Given the description of an element on the screen output the (x, y) to click on. 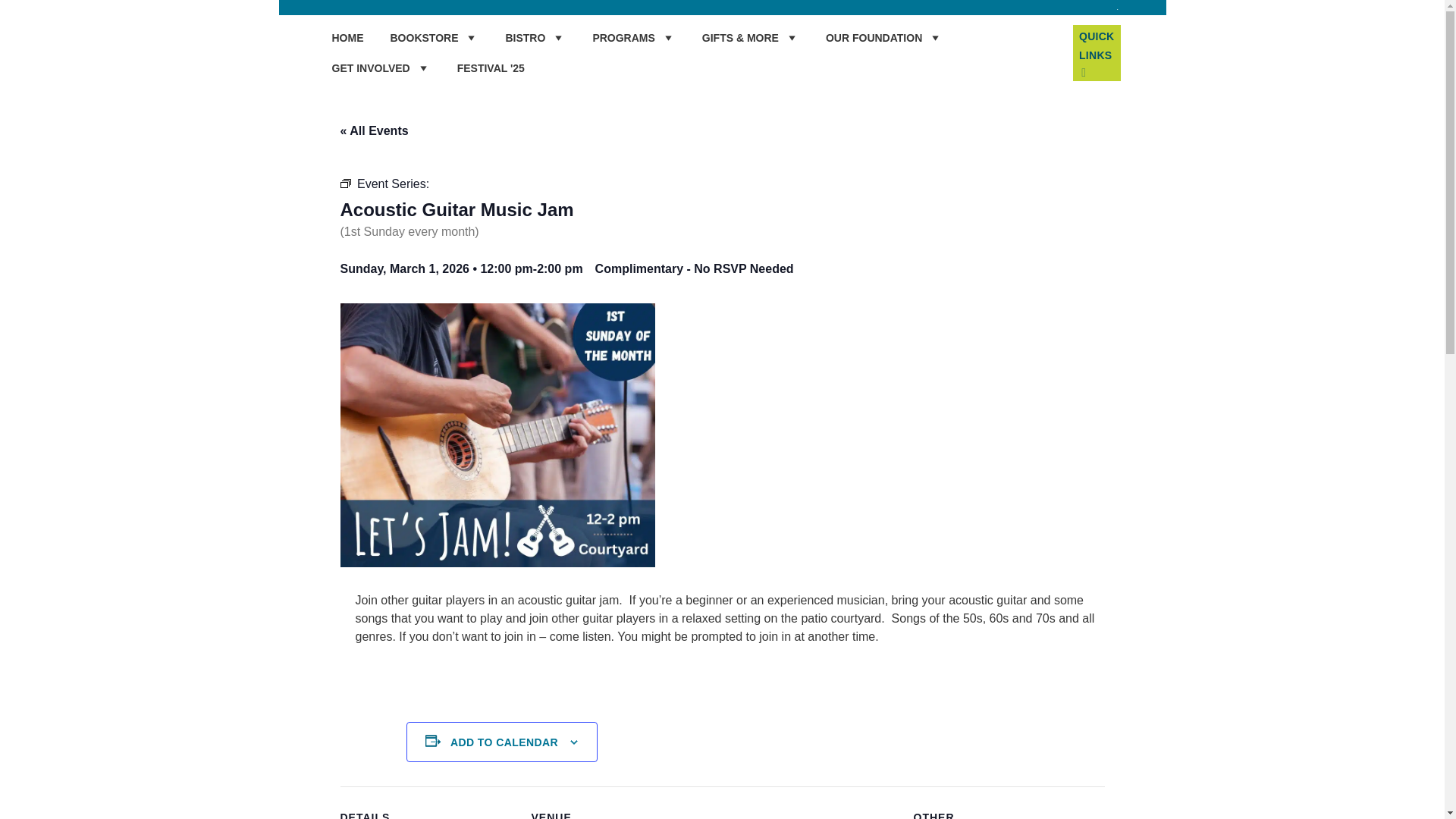
PROGRAMS (633, 37)
BISTRO (535, 37)
GET INVOLVED (381, 68)
BOOKSTORE (433, 37)
HOME (347, 37)
